Given the description of an element on the screen output the (x, y) to click on. 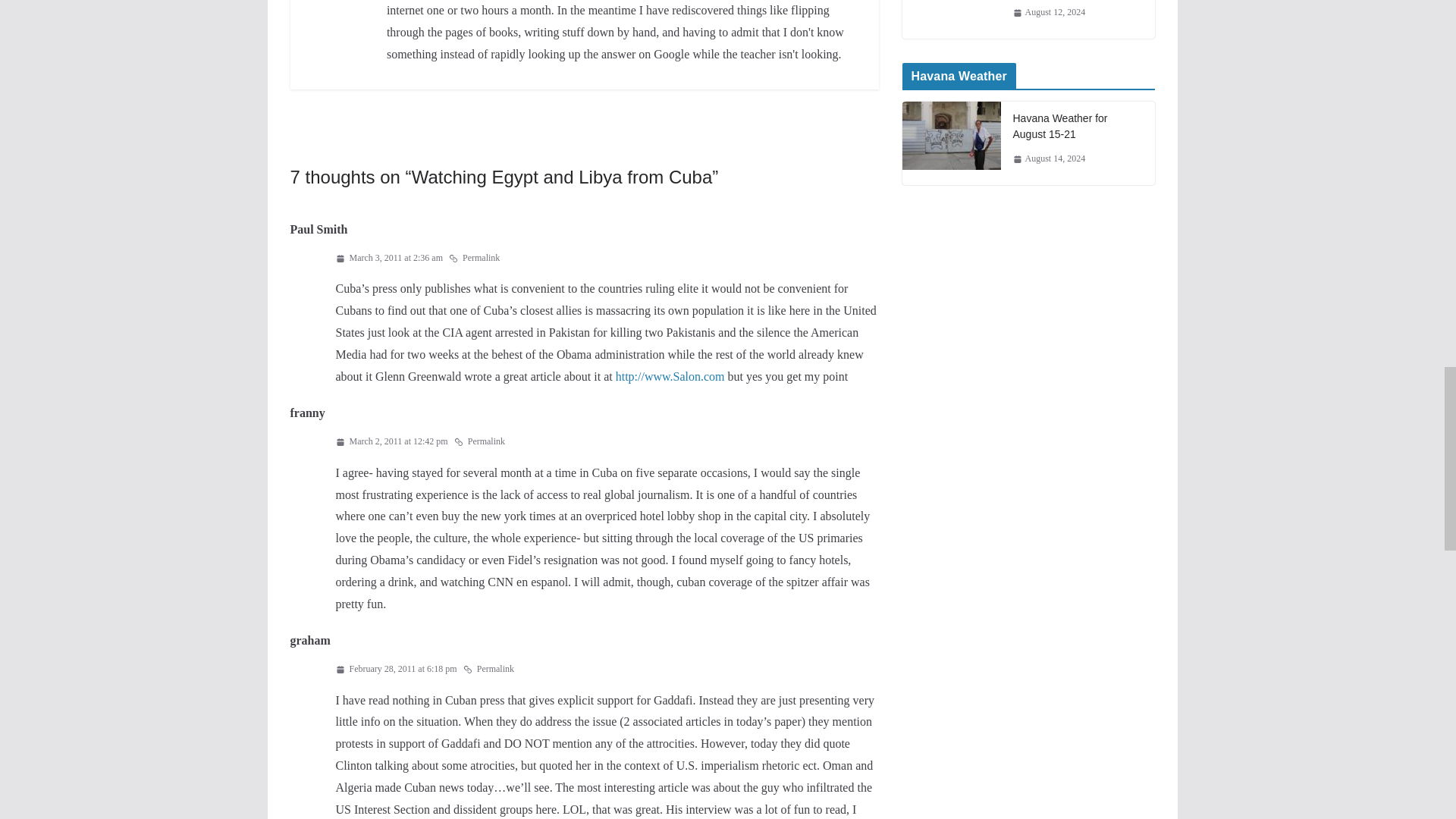
Permalink (488, 669)
Permalink (473, 258)
Permalink (479, 442)
